Given the description of an element on the screen output the (x, y) to click on. 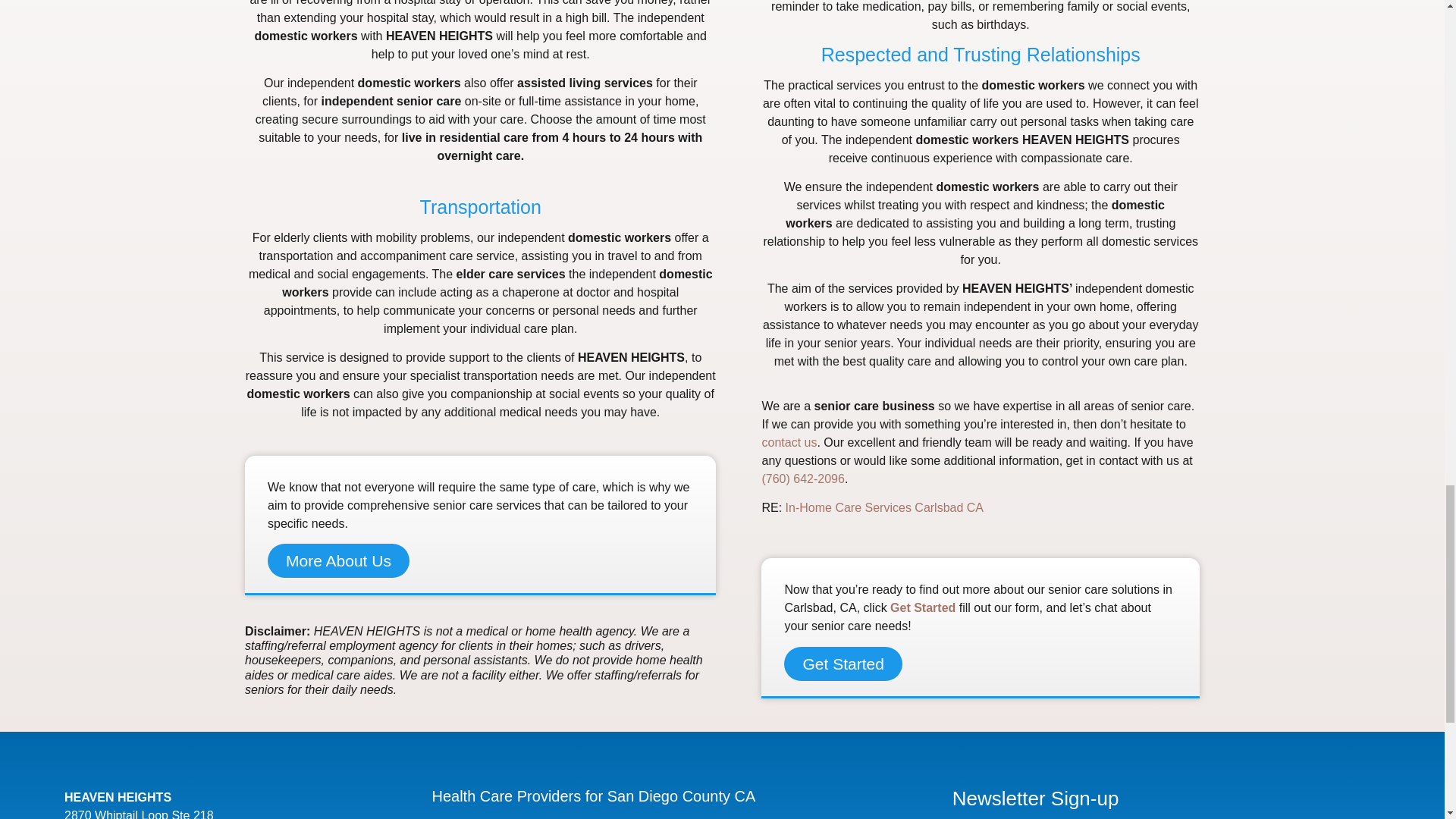
In Home care Services Carlsbad CA (885, 507)
Get Started (842, 663)
In-Home Care Services Carlsbad CA (885, 507)
More About Us (338, 560)
Get Started (922, 607)
contact us (788, 441)
